Given the description of an element on the screen output the (x, y) to click on. 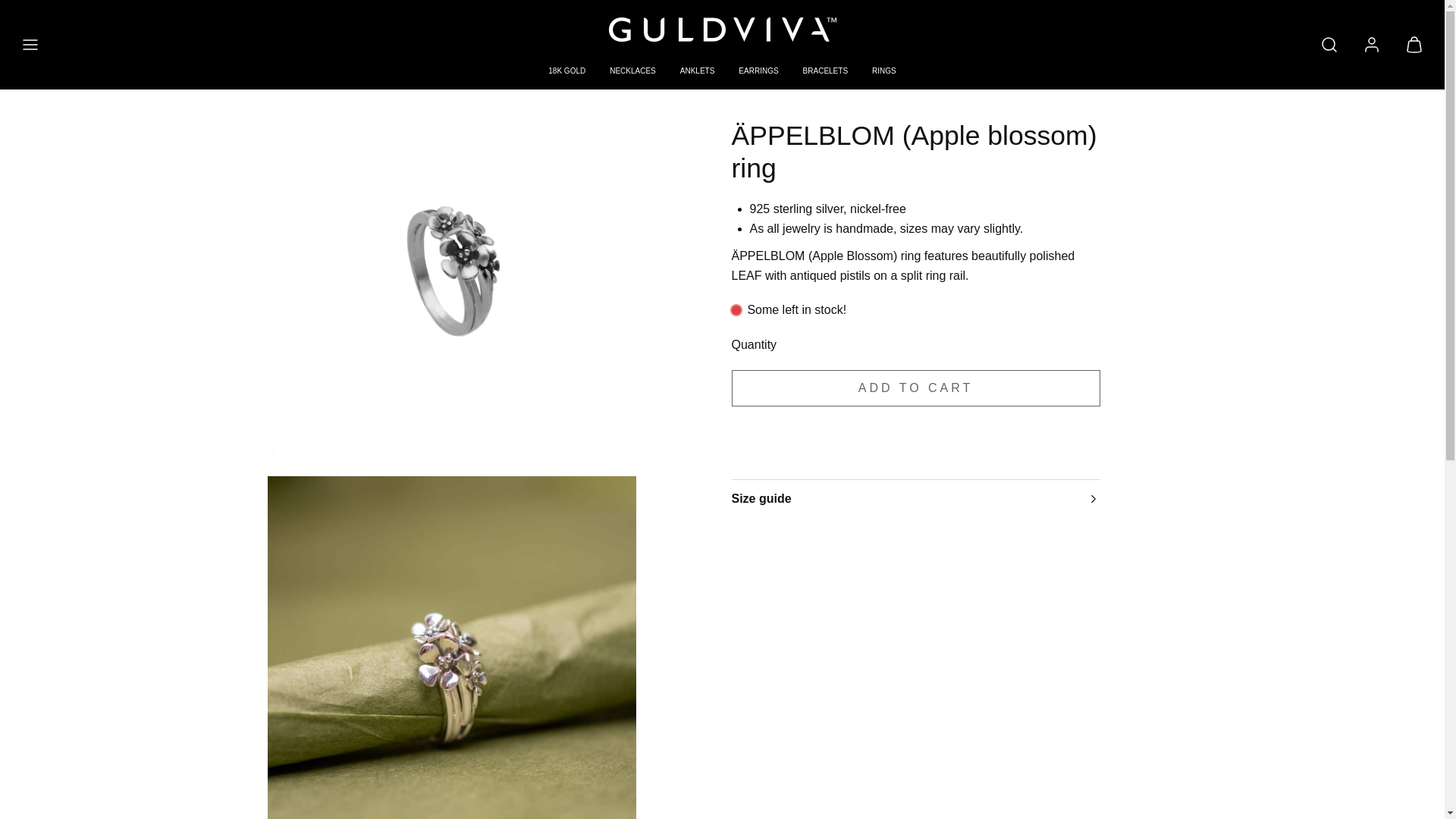
EARRINGS (758, 70)
MENU (29, 44)
BRACELETS (825, 70)
RINGS (884, 70)
NECKLACES (632, 70)
ANKLETS (697, 70)
SEARCH (1329, 44)
18K GOLD (566, 70)
ACCOUNT (1372, 44)
